Given the description of an element on the screen output the (x, y) to click on. 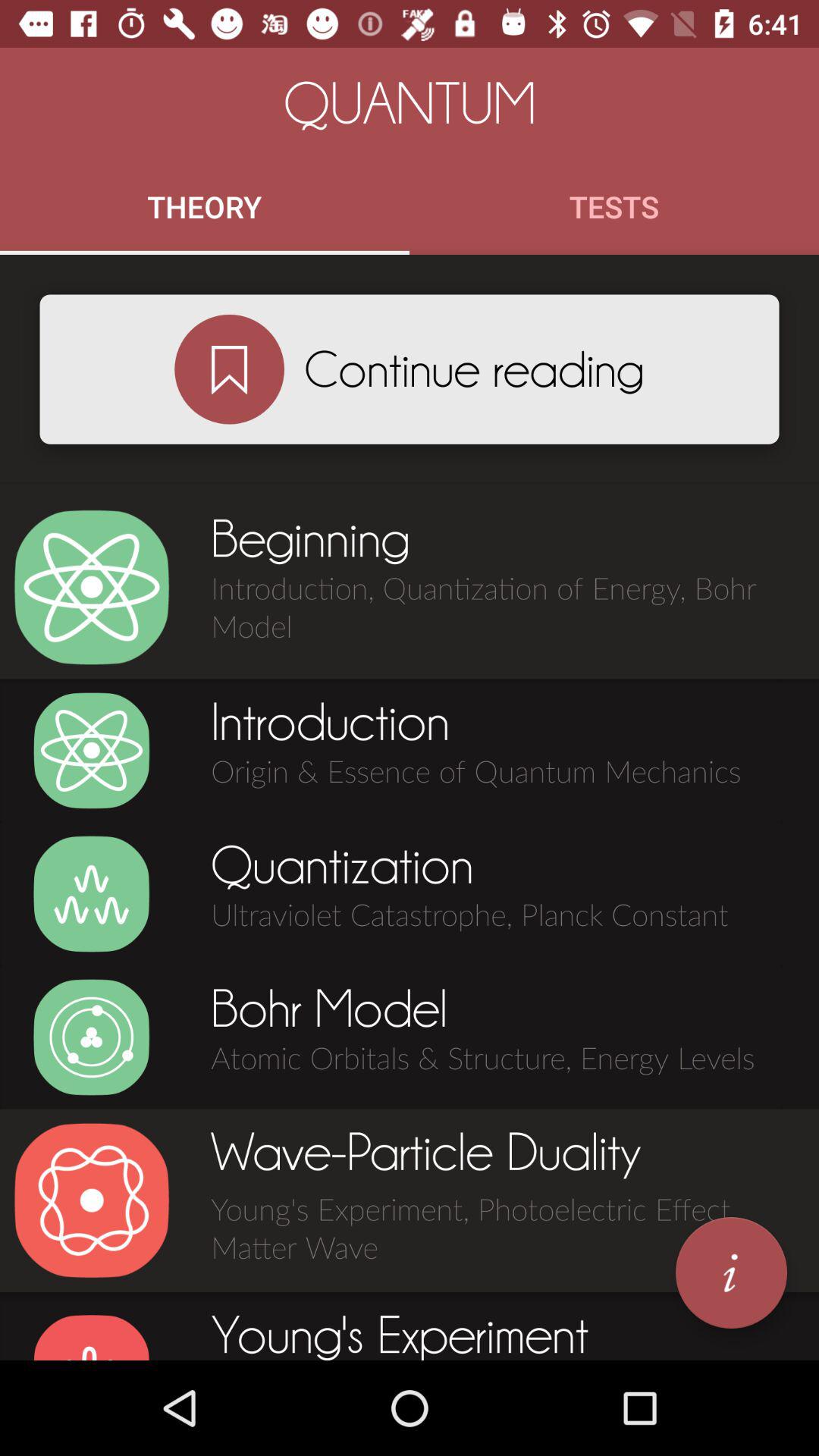
turn on icon at the bottom right corner (731, 1272)
